Given the description of an element on the screen output the (x, y) to click on. 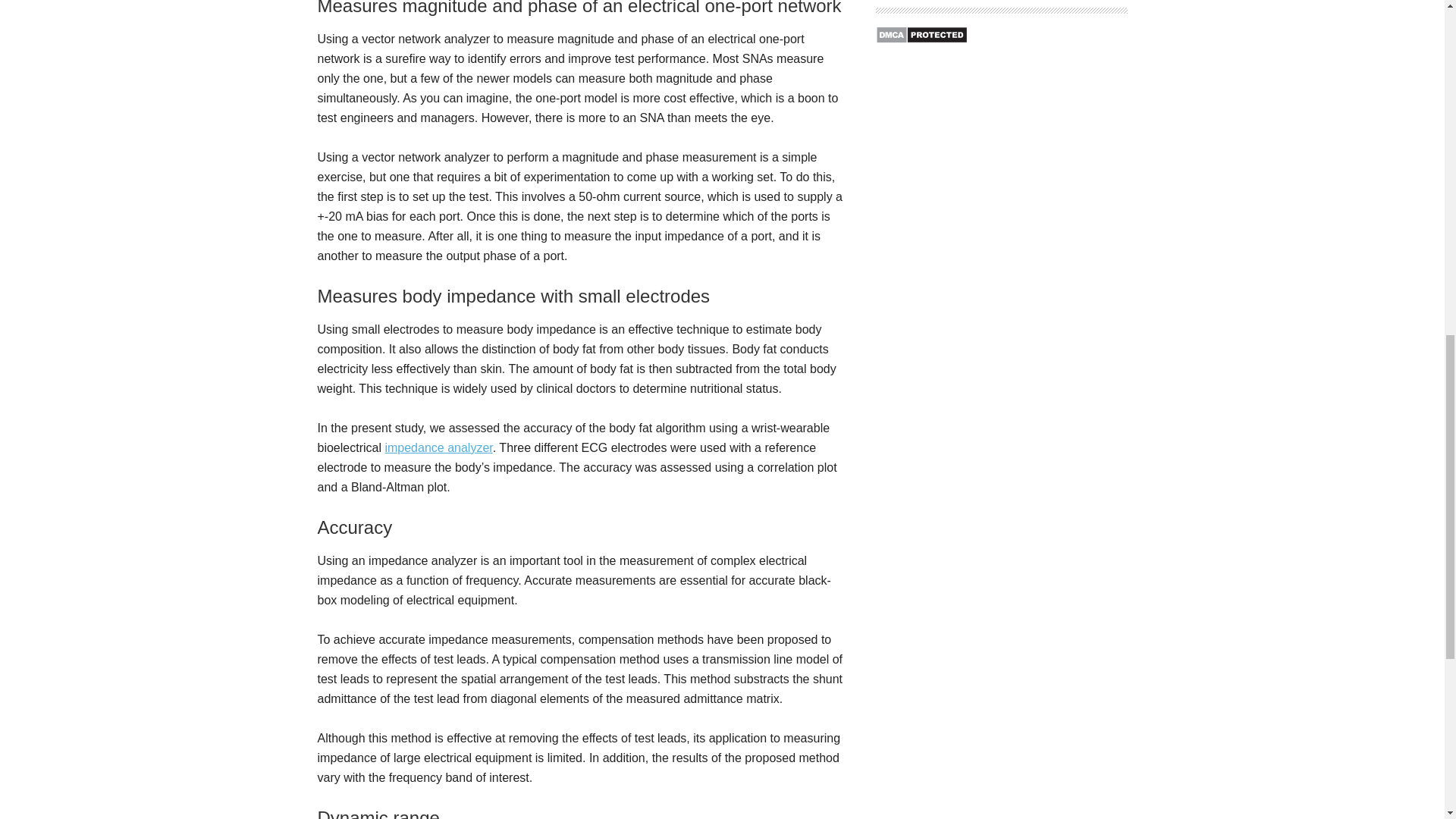
DMCA.com Protection Status (920, 39)
impedance analyzer (438, 447)
